Given the description of an element on the screen output the (x, y) to click on. 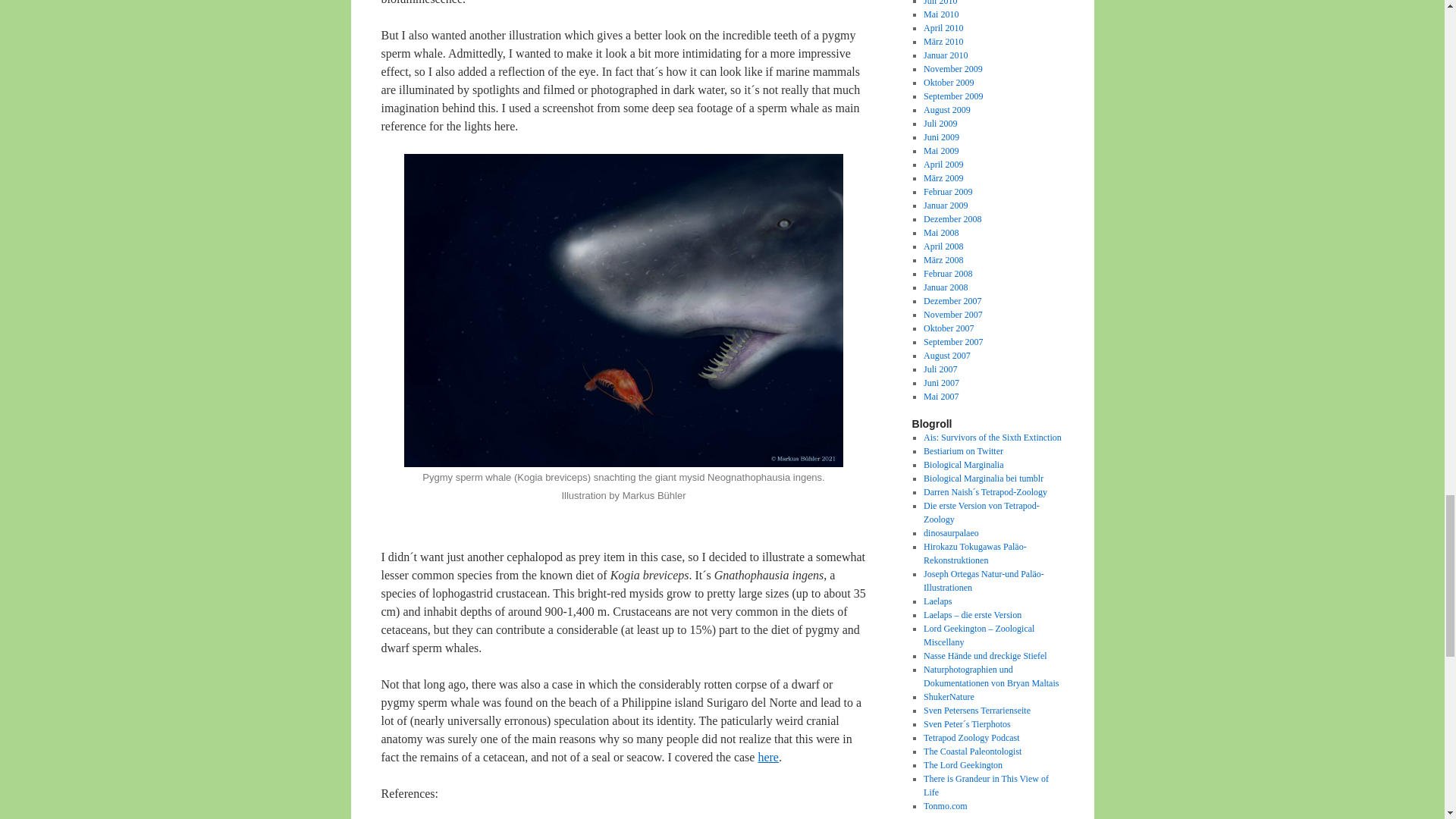
Der neueste Blog von Cameron McCormick (963, 464)
here (767, 757)
